Given the description of an element on the screen output the (x, y) to click on. 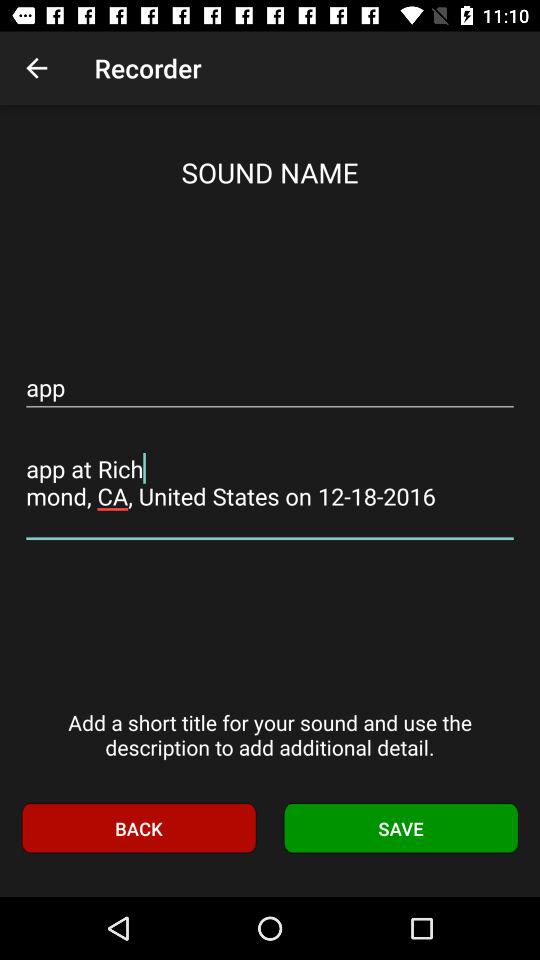
click item to the left of the recorder (36, 68)
